Given the description of an element on the screen output the (x, y) to click on. 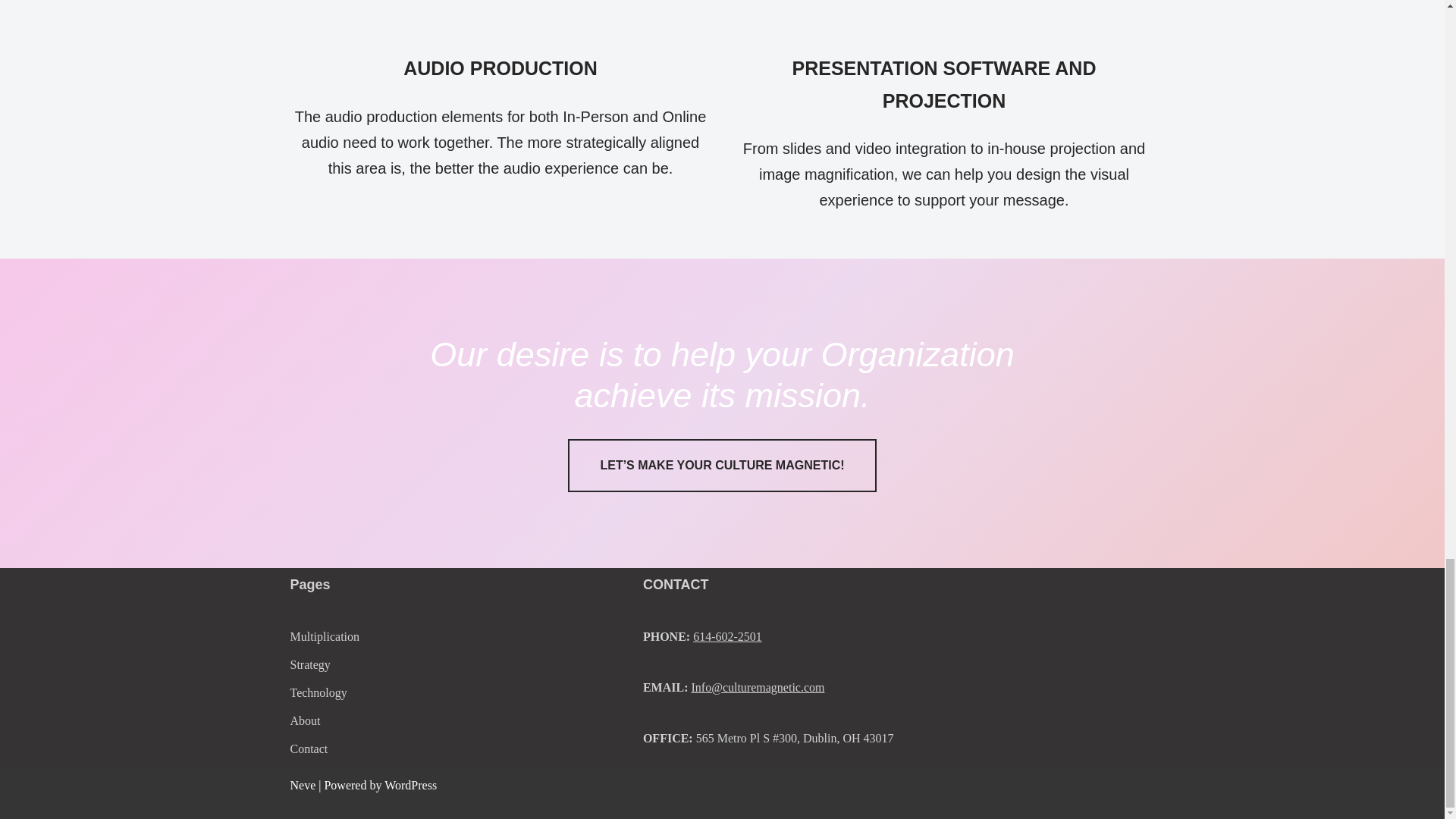
Neve (302, 784)
About (304, 720)
Technology (317, 692)
Contact (308, 748)
614-602-2501 (727, 635)
Multiplication (324, 635)
WordPress (410, 784)
Strategy (309, 664)
